Given the description of an element on the screen output the (x, y) to click on. 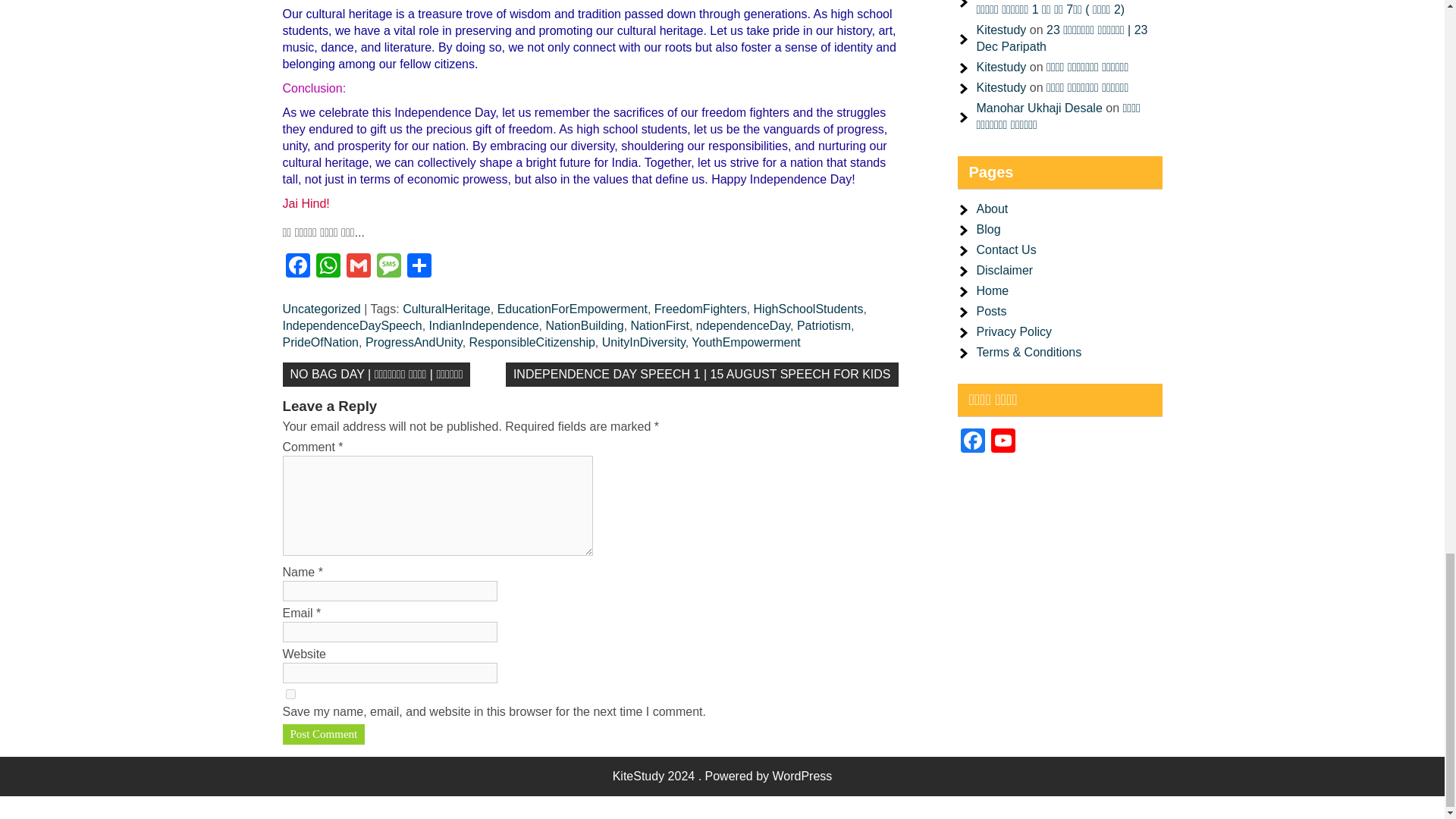
Message (387, 267)
Facebook (297, 267)
yes (290, 694)
WhatsApp (327, 267)
YouTube Channel (1002, 442)
Gmail (357, 267)
Facebook (971, 442)
Post Comment (323, 733)
